Given the description of an element on the screen output the (x, y) to click on. 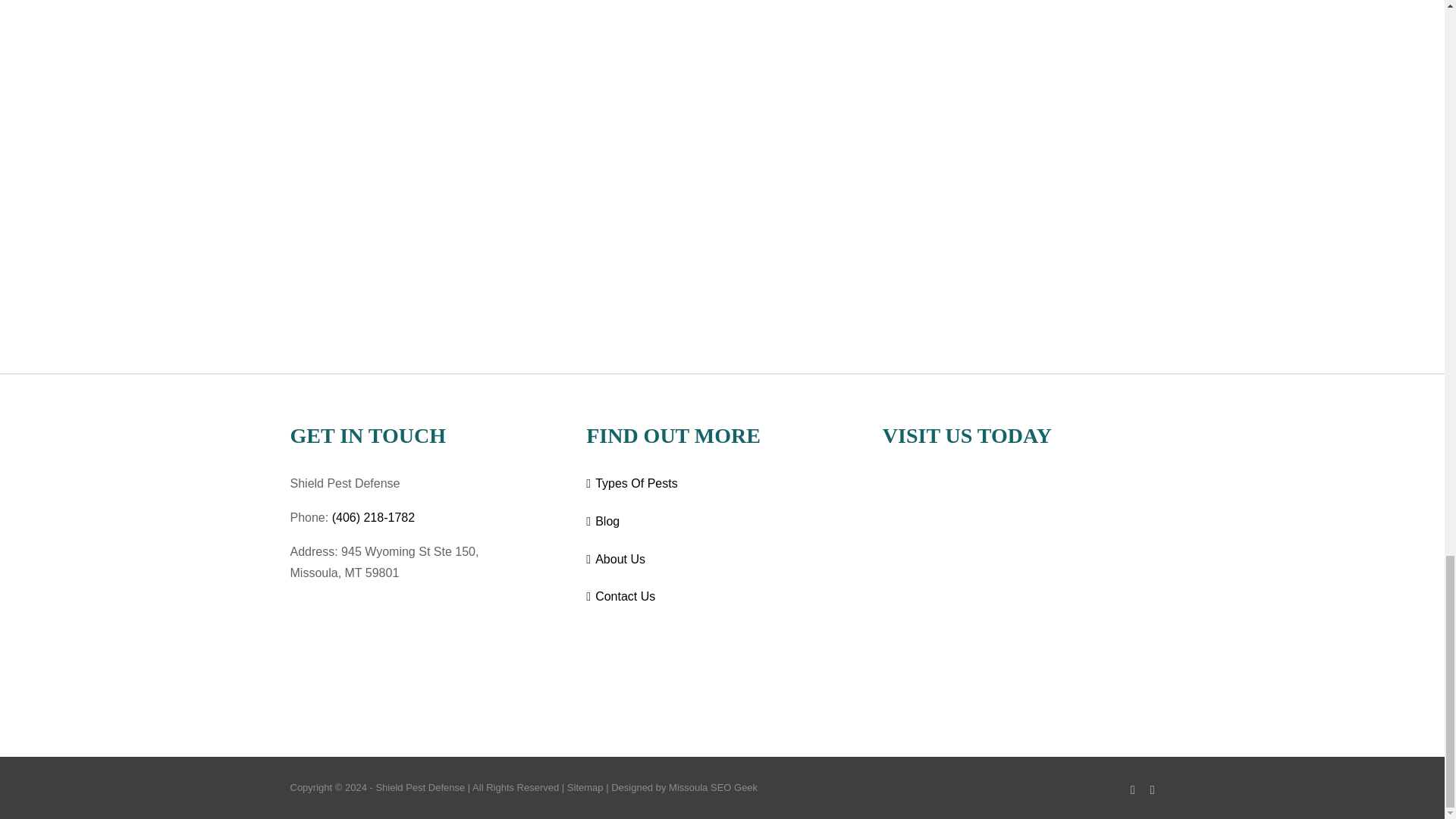
Missoula SEO Geek (712, 787)
About Us (722, 559)
Types Of Pests (722, 484)
Blog (722, 522)
Contact Us (722, 597)
Sitemap (585, 787)
